Given the description of an element on the screen output the (x, y) to click on. 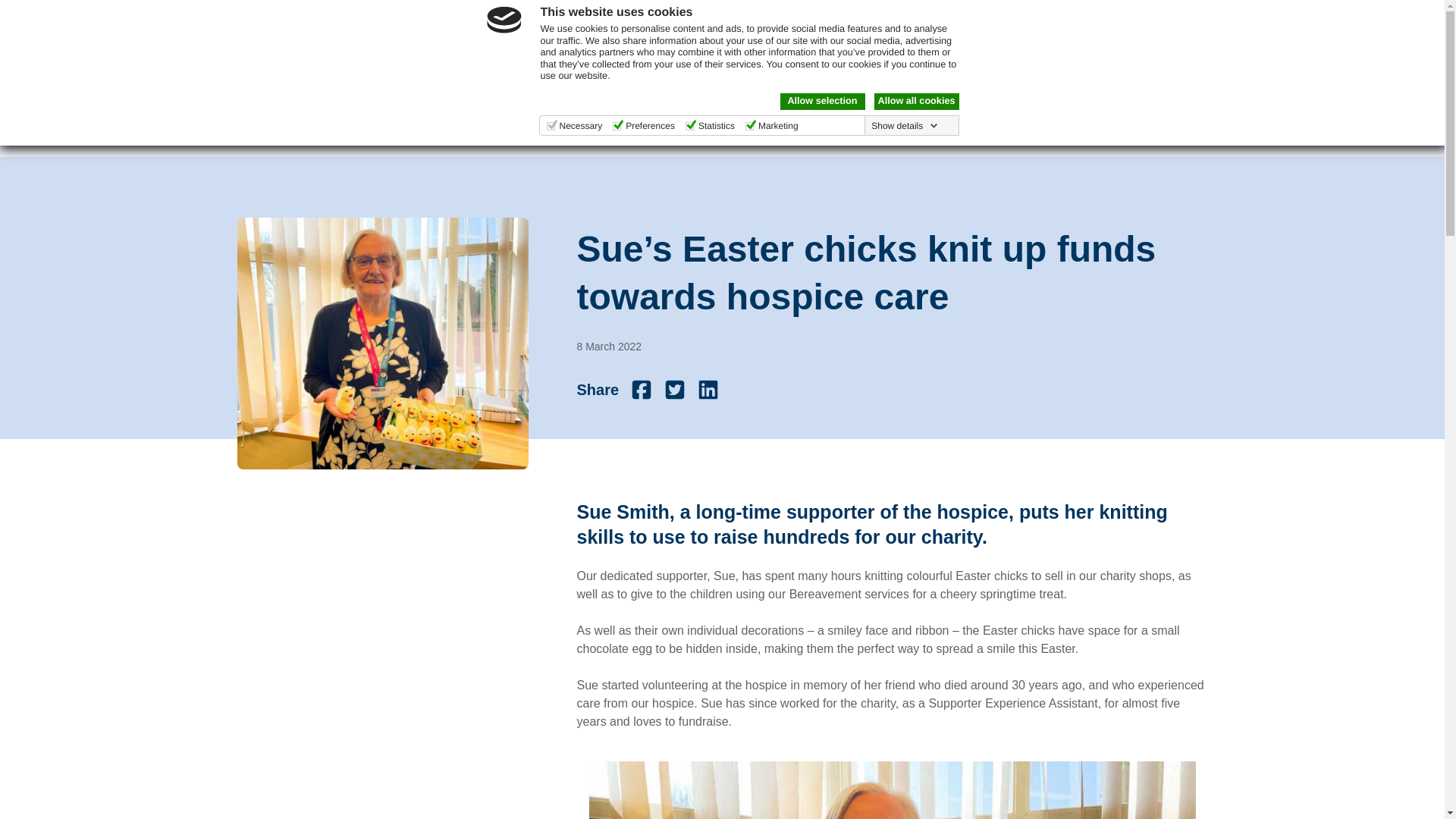
Allow all cookies (915, 101)
Allow selection (821, 101)
Show details (903, 125)
